Given the description of an element on the screen output the (x, y) to click on. 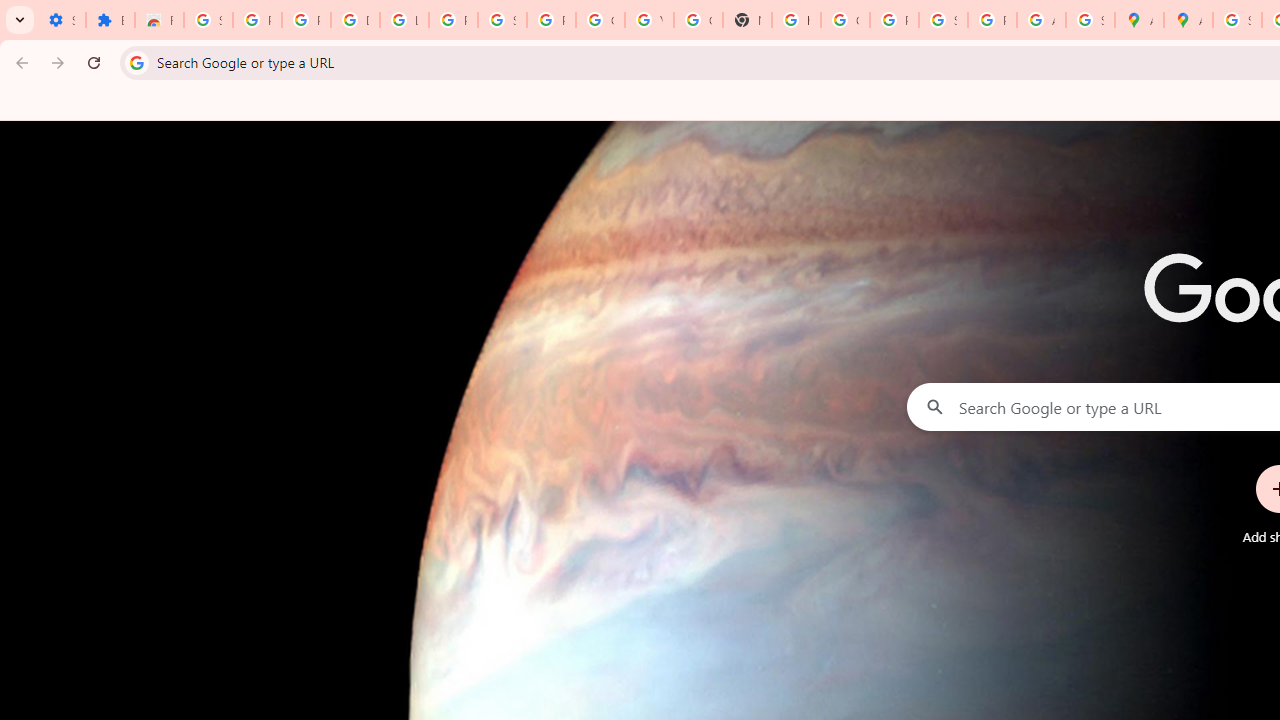
Reviews: Helix Fruit Jump Arcade Game (159, 20)
Sign in - Google Accounts (1237, 20)
Delete photos & videos - Computer - Google Photos Help (355, 20)
Sign in - Google Accounts (208, 20)
